Given the description of an element on the screen output the (x, y) to click on. 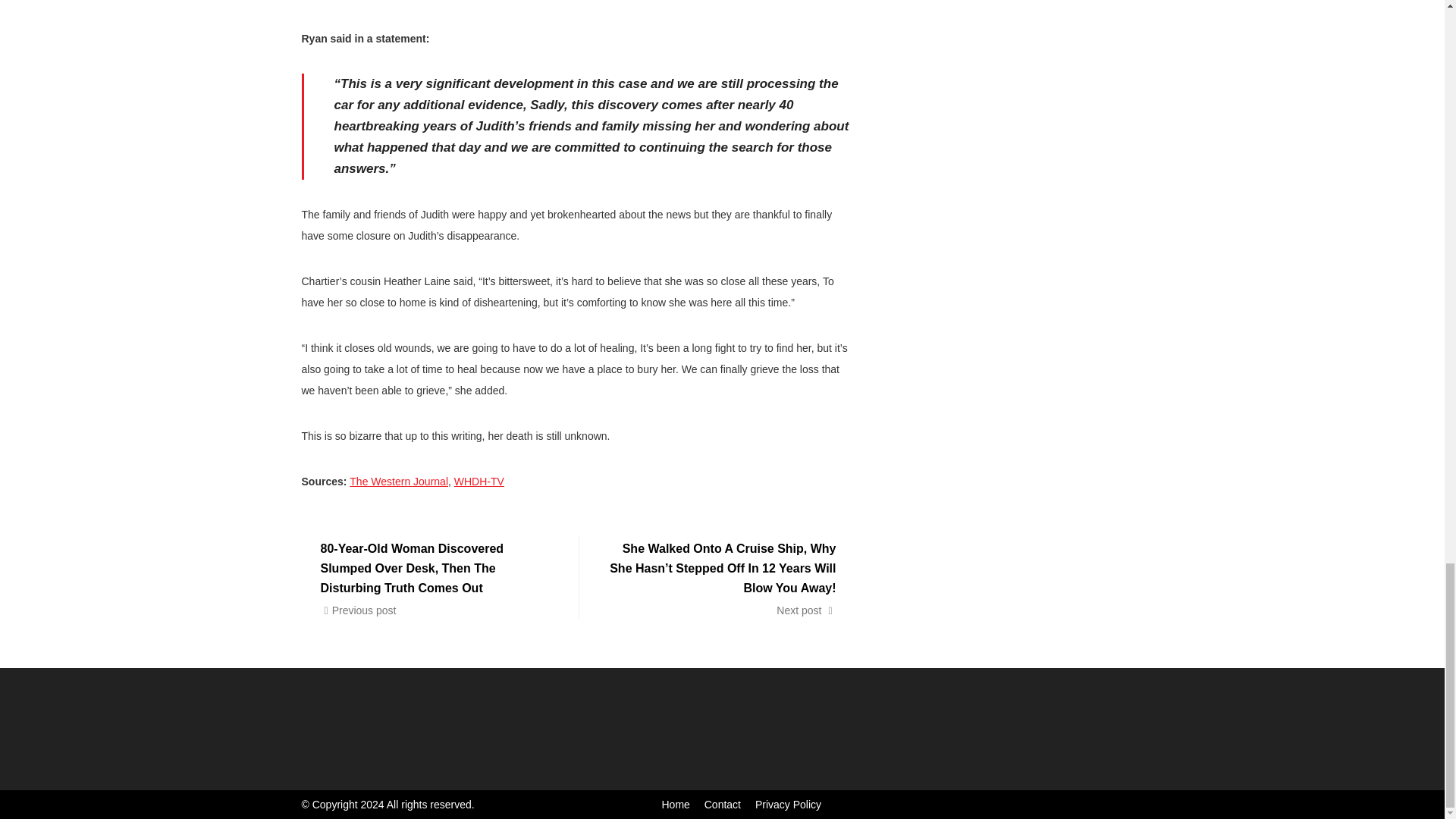
Contact (722, 804)
Privacy Policy (788, 804)
WHDH-TV (478, 481)
Home (674, 804)
The Western Journal (398, 481)
